Given the description of an element on the screen output the (x, y) to click on. 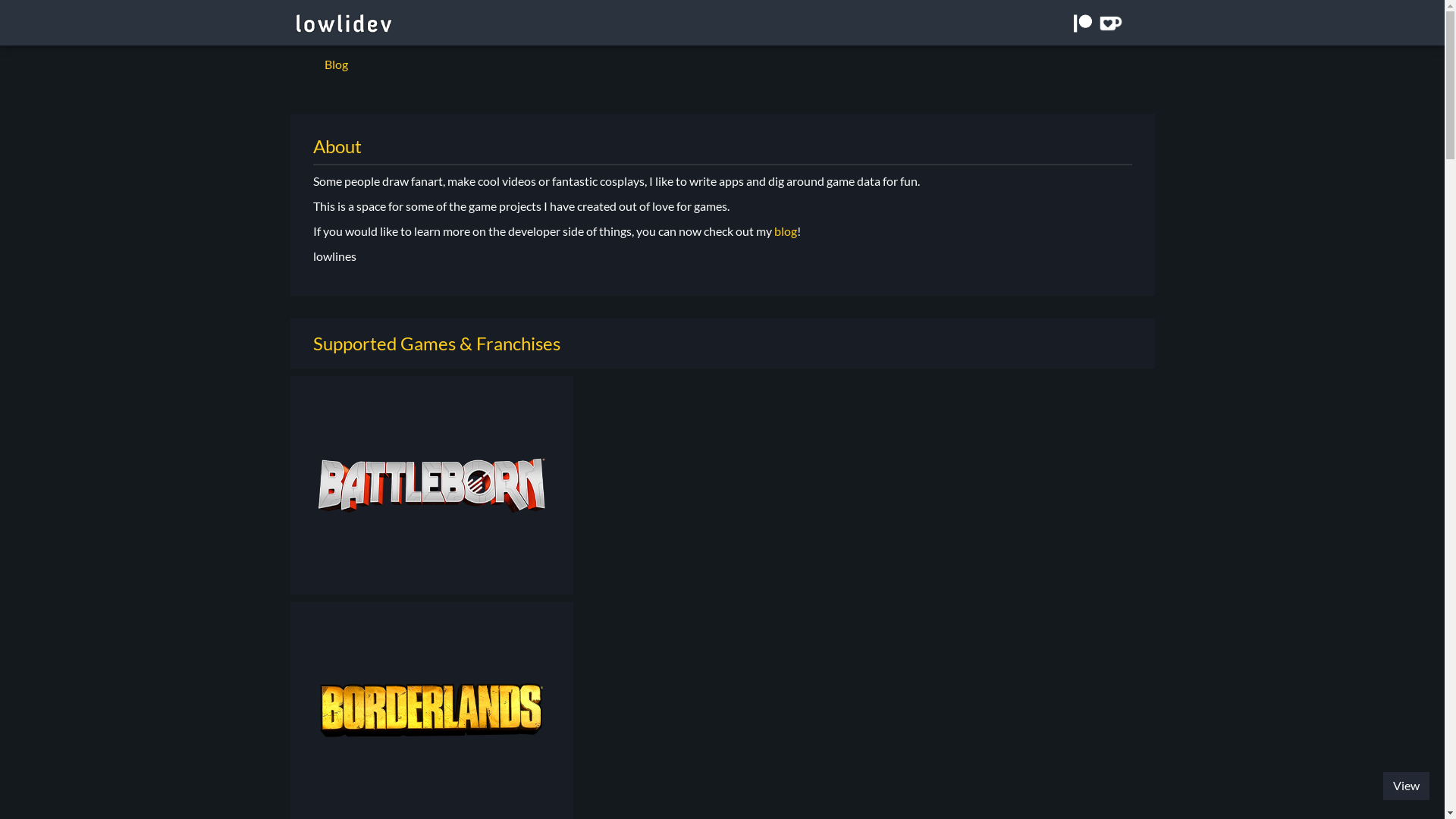
Patreon Element type: hover (1082, 23)
View Element type: text (1406, 785)
Ko-fi Element type: hover (1110, 23)
Site Settings Element type: hover (1146, 64)
Blog Element type: text (335, 64)
blog Element type: text (784, 230)
